Given the description of an element on the screen output the (x, y) to click on. 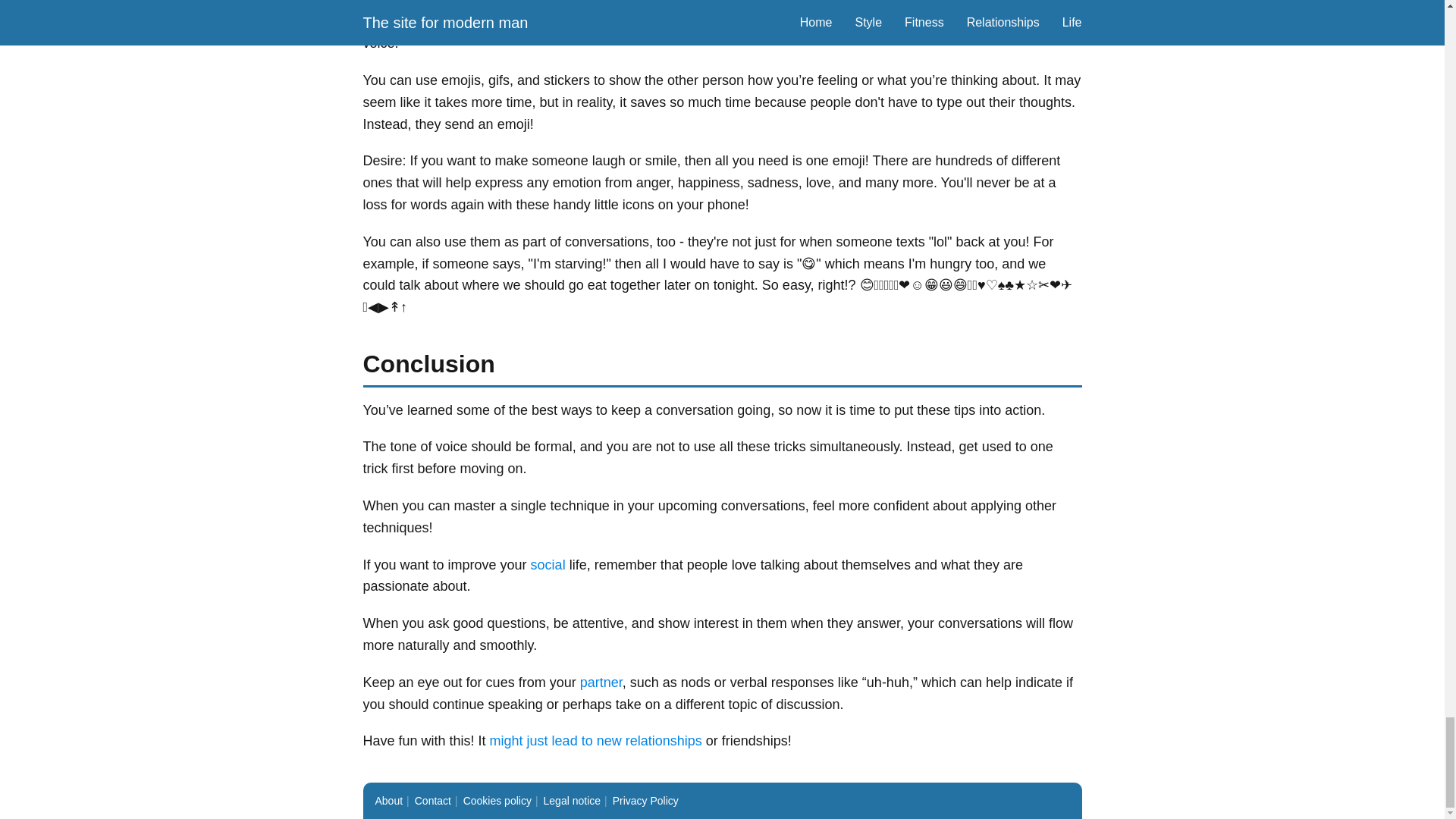
About (388, 800)
social (548, 564)
Privacy Policy (645, 800)
Legal notice (572, 800)
Cookies policy (497, 800)
might just lead to new relationships (595, 740)
Contact (432, 800)
partner (601, 682)
